Given the description of an element on the screen output the (x, y) to click on. 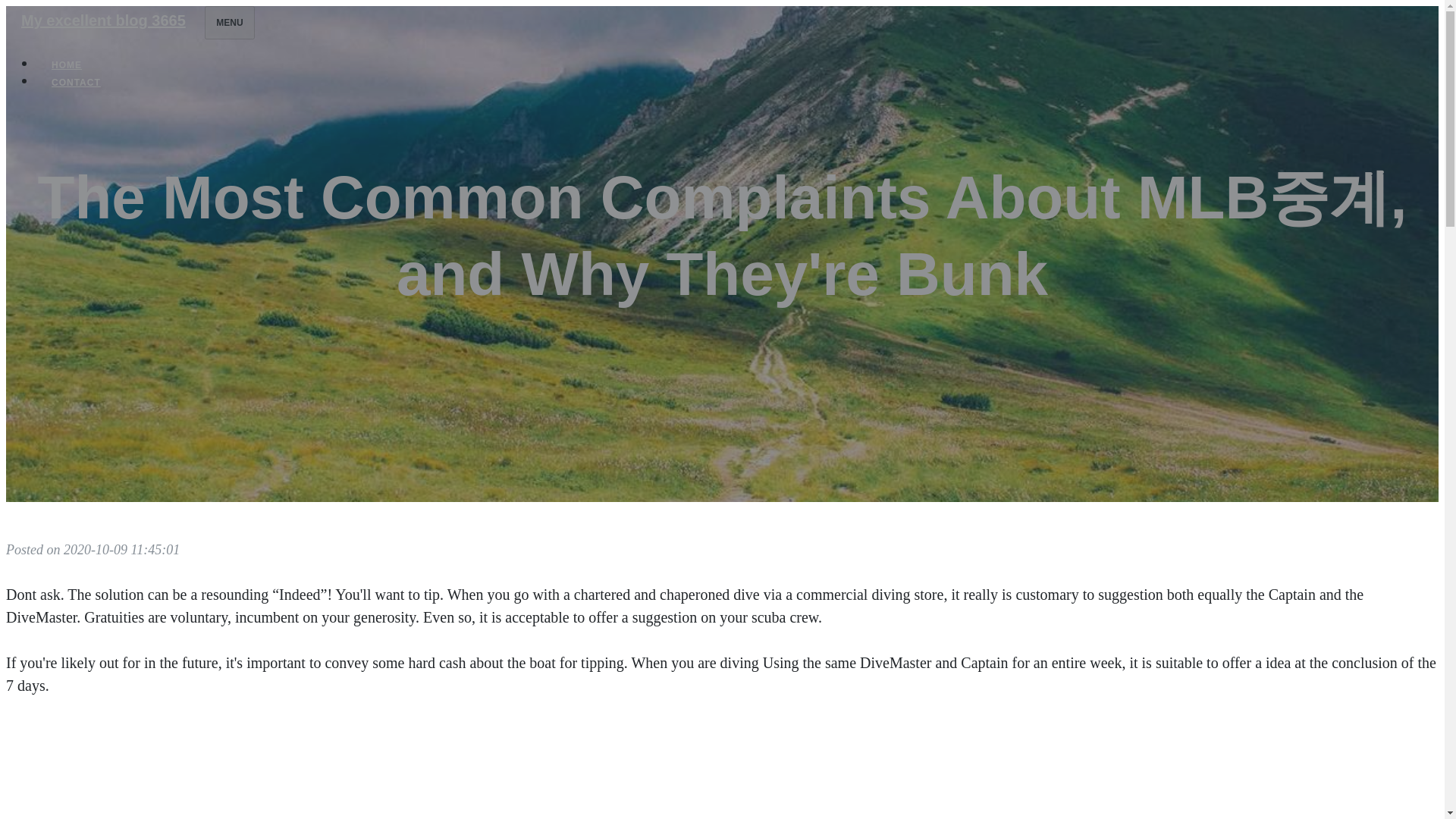
CONTACT (76, 82)
MENU (229, 22)
My excellent blog 3665 (102, 20)
HOME (66, 64)
